Given the description of an element on the screen output the (x, y) to click on. 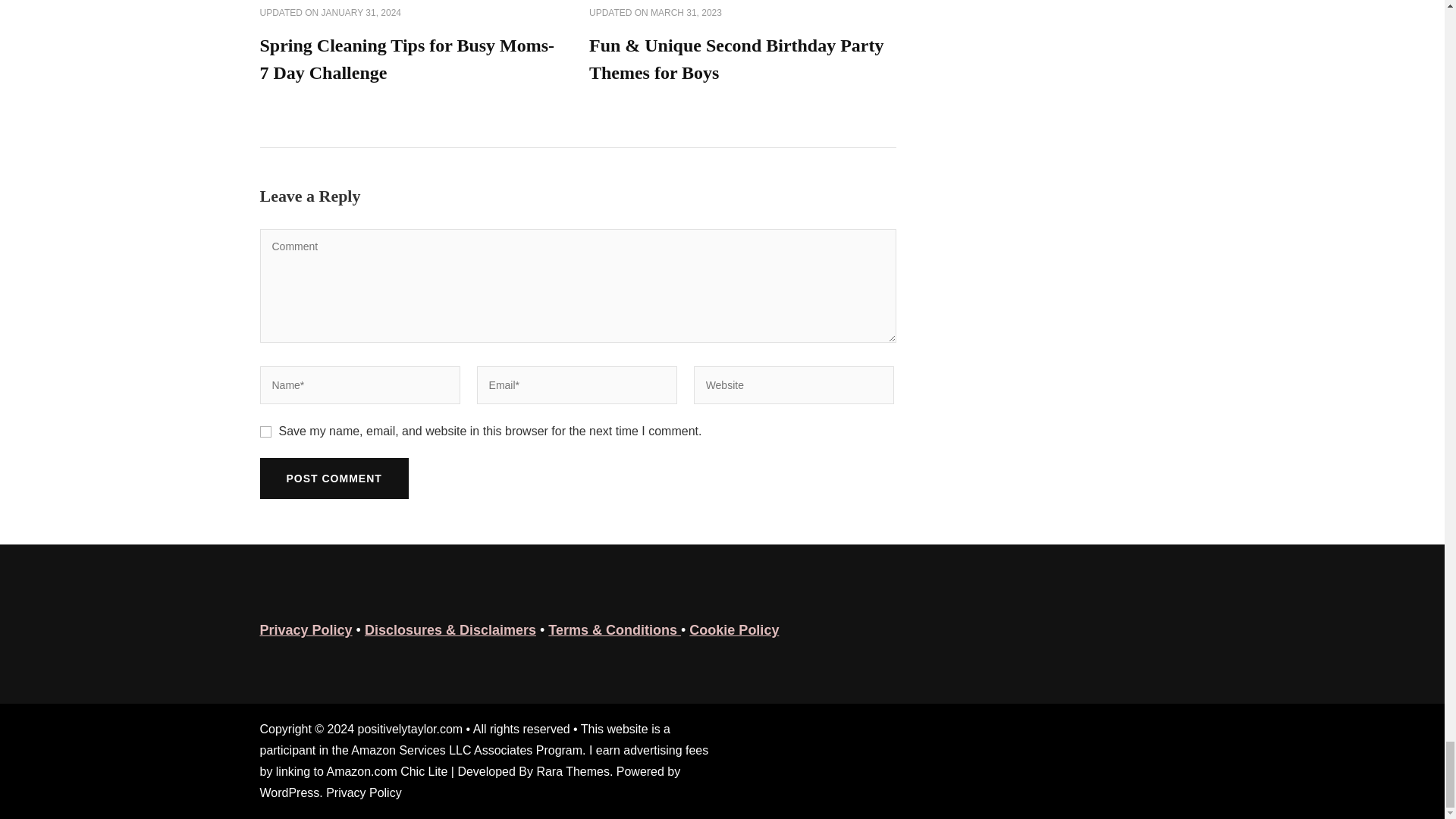
Post Comment (333, 477)
